Given the description of an element on the screen output the (x, y) to click on. 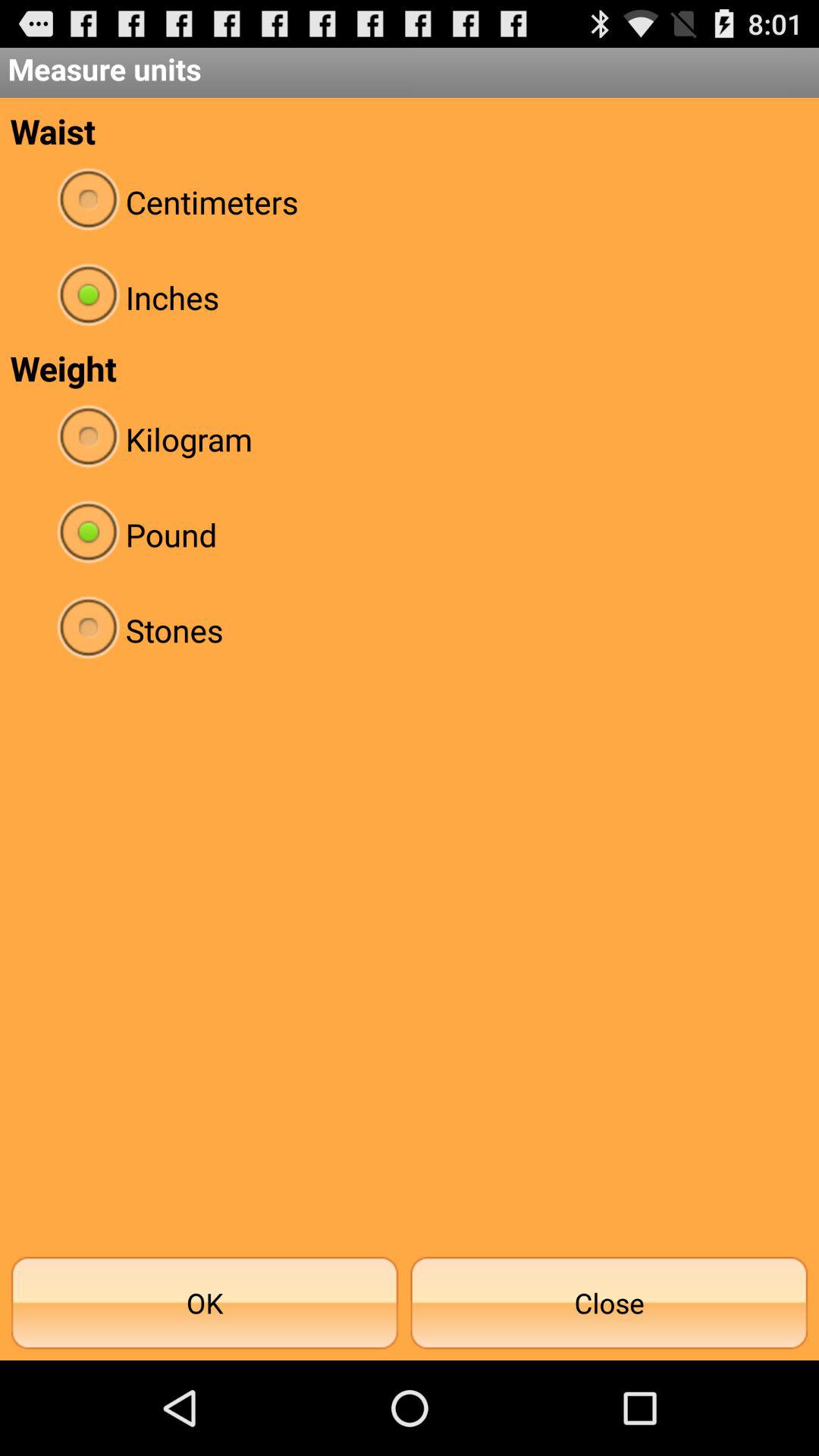
launch item above the stones radio button (409, 534)
